Given the description of an element on the screen output the (x, y) to click on. 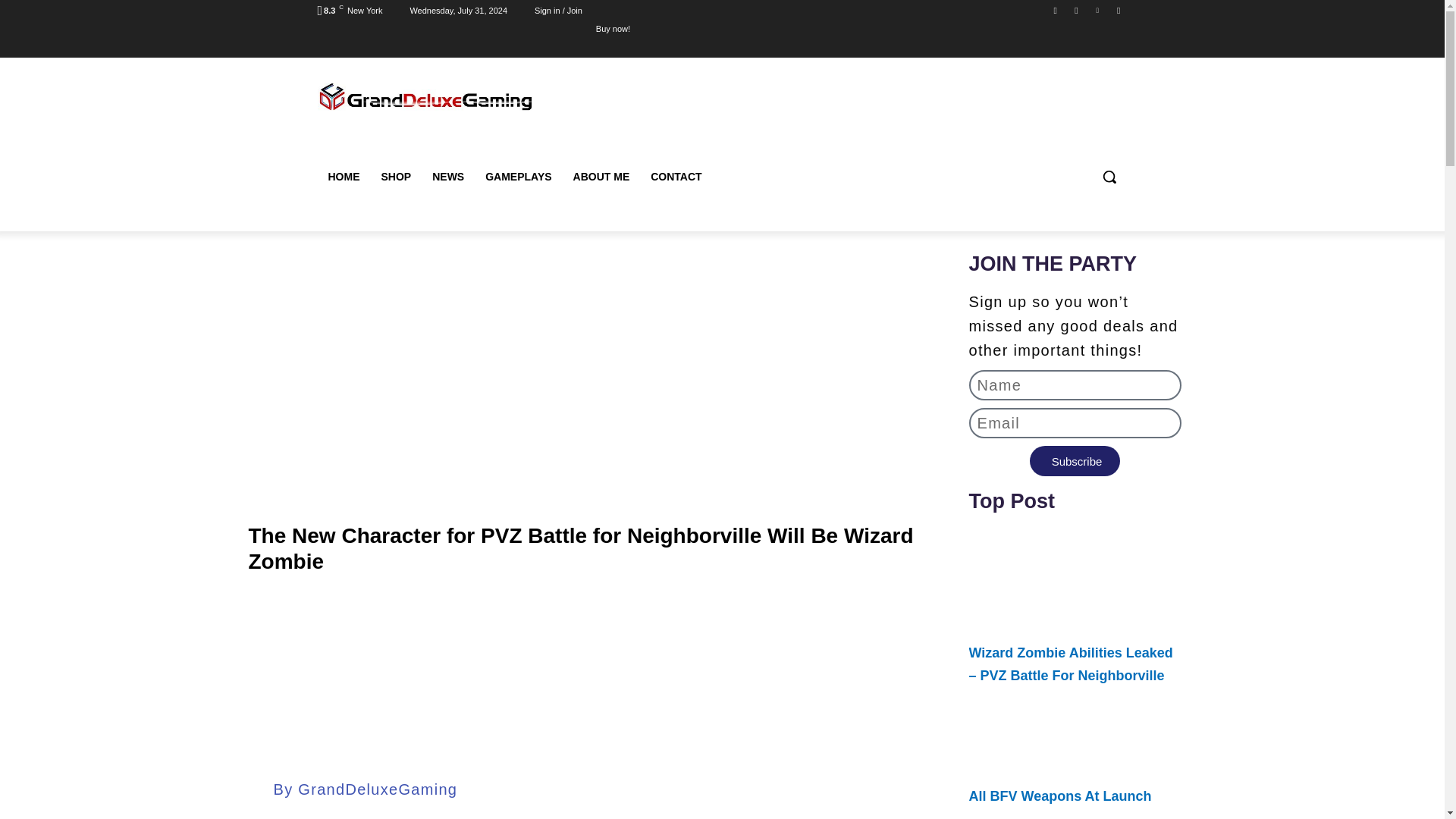
Youtube (1117, 9)
SHOP (395, 176)
Instagram (1075, 9)
NEWS (448, 176)
Twitter (1097, 9)
Buy now! (612, 28)
CONTACT (675, 176)
ABOUT ME (601, 176)
HOME (343, 176)
GAMEPLAYS (518, 176)
Facebook (1055, 9)
